Given the description of an element on the screen output the (x, y) to click on. 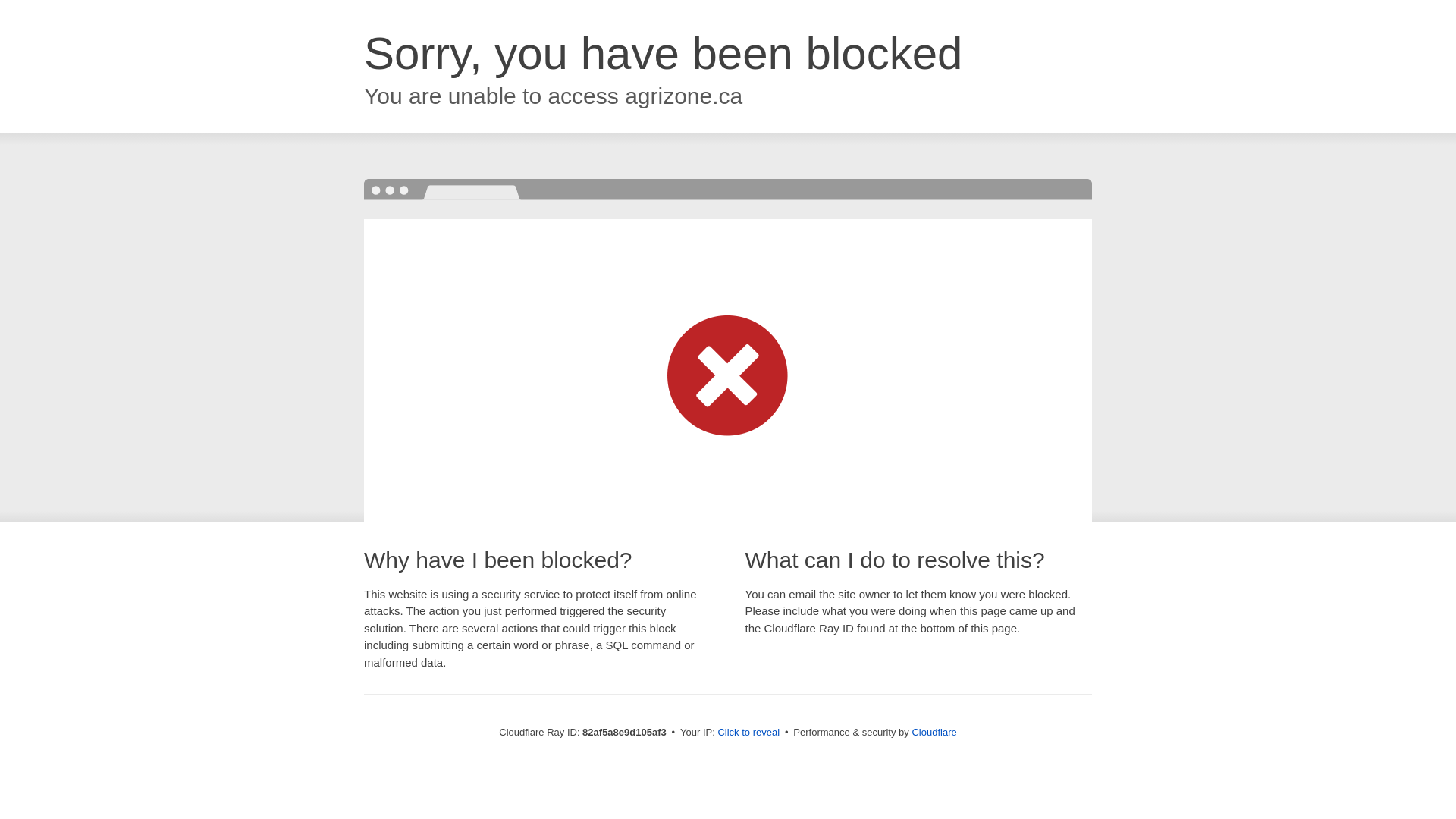
Click to reveal Element type: text (748, 732)
Cloudflare Element type: text (933, 731)
